Given the description of an element on the screen output the (x, y) to click on. 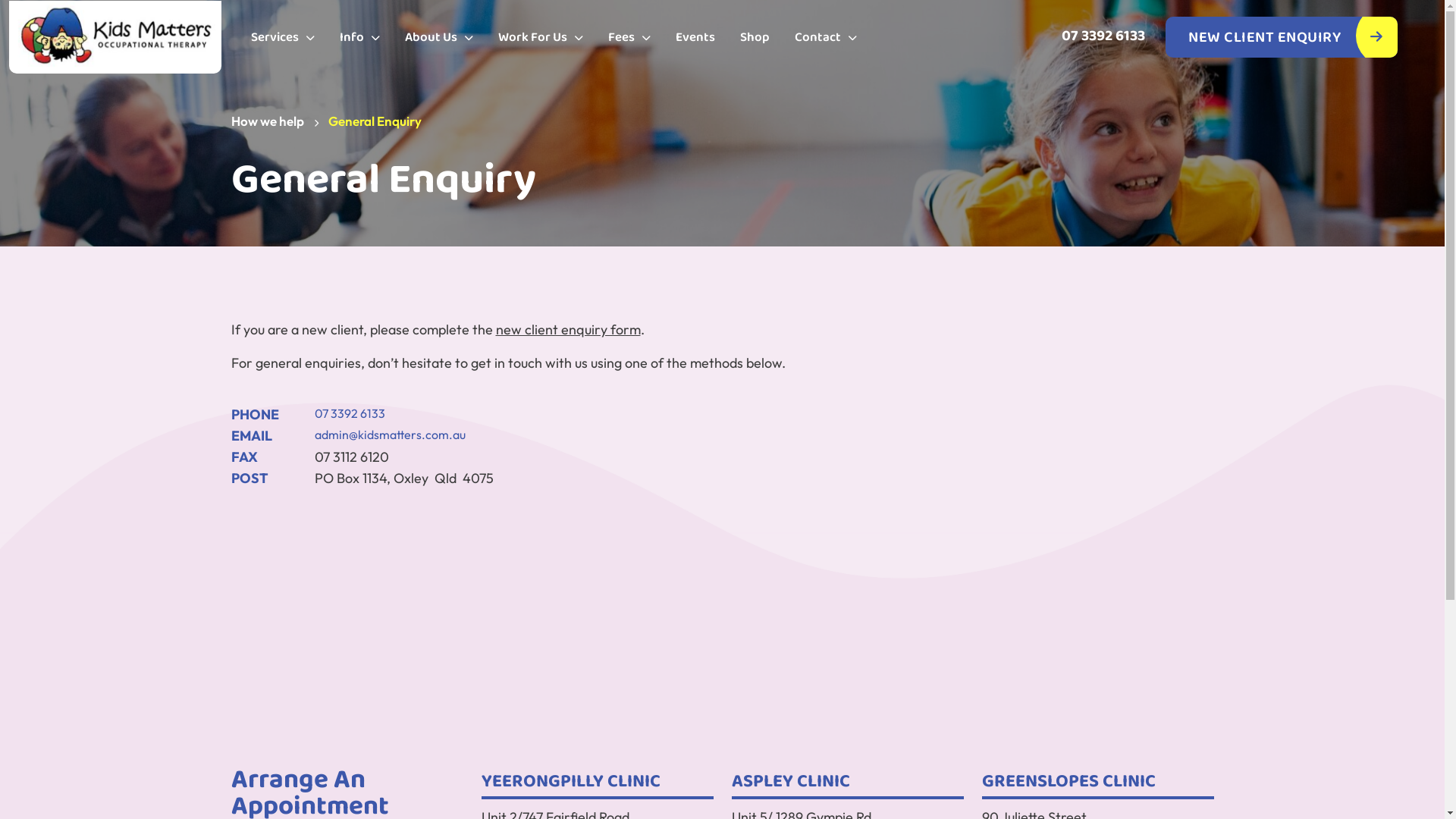
admin@kidsmatters.com.au Element type: text (388, 434)
07 3392 6133 Element type: text (348, 412)
About Us Element type: text (438, 37)
Events Element type: text (695, 37)
Contact Element type: text (825, 37)
07 3392 6133 Element type: text (1103, 35)
Shop Element type: text (754, 37)
NEW CLIENT ENQUIRY Element type: text (1281, 36)
new client enquiry form Element type: text (567, 329)
Info Element type: text (359, 37)
Work For Us Element type: text (540, 37)
Fees Element type: text (629, 37)
Services Element type: text (282, 37)
